Given the description of an element on the screen output the (x, y) to click on. 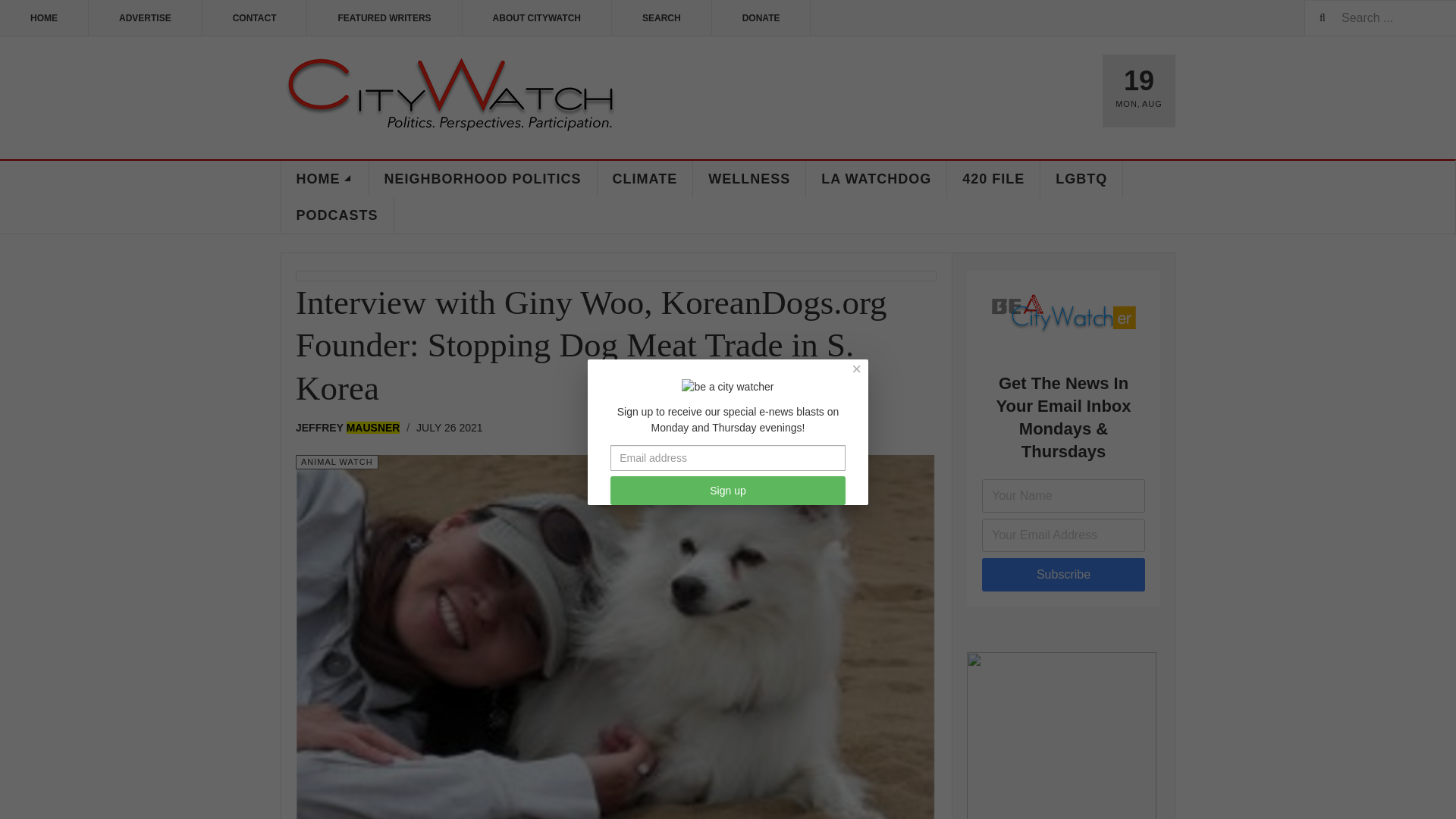
Category:  (336, 462)
NEIGHBORHOOD POLITICS (482, 178)
SEARCH (661, 18)
HOME (44, 18)
PODCASTS (337, 215)
FEATURED WRITERS (384, 18)
WELLNESS (749, 178)
420 FILE (994, 178)
LGBTQ (1081, 178)
CLIMATE (645, 178)
